Given the description of an element on the screen output the (x, y) to click on. 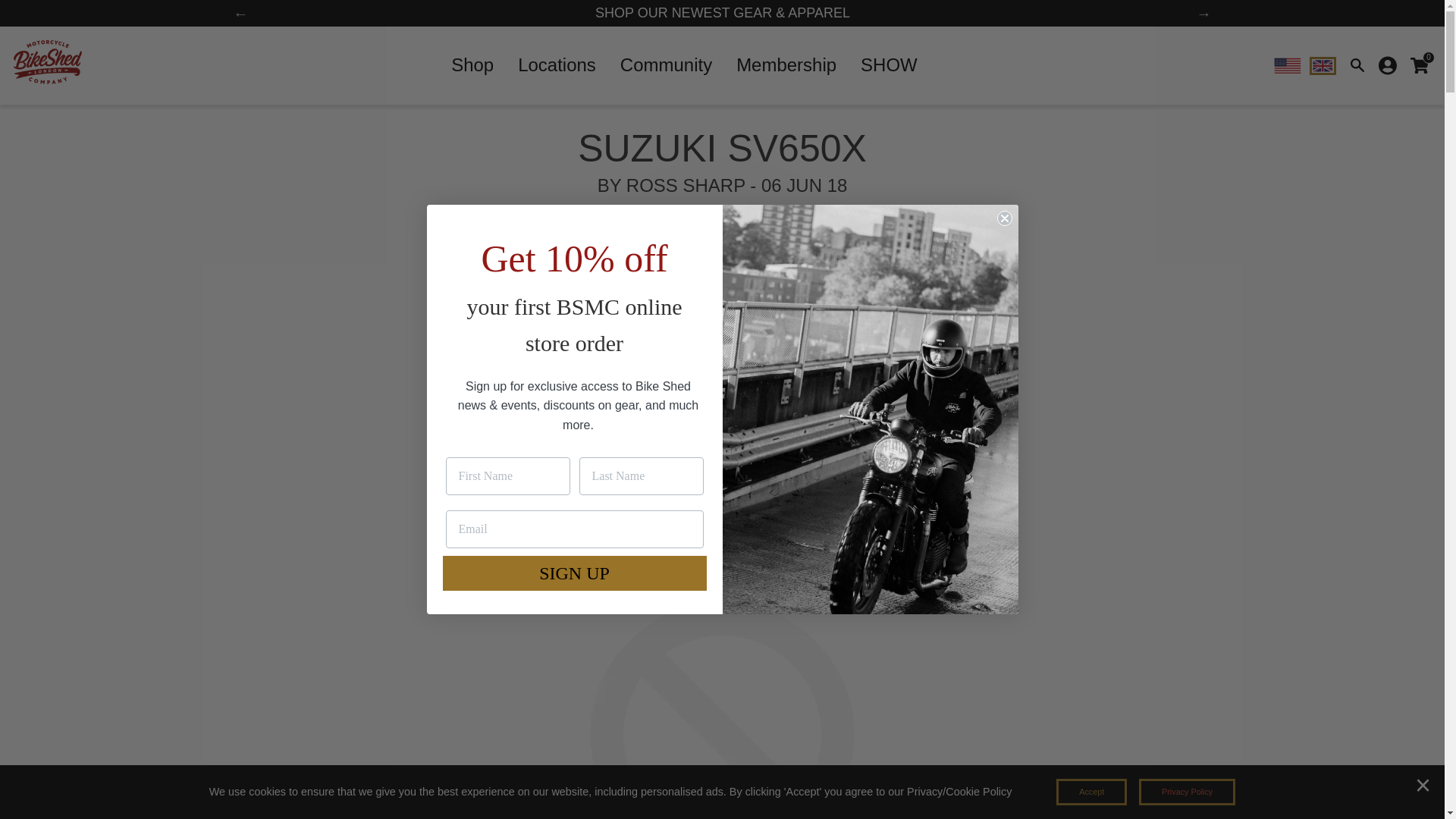
Bike Shed Moto Co (869, 409)
Bike Shed Moto Co. US (1286, 65)
Search Website (1357, 64)
Next (1203, 13)
Access Account (1387, 65)
Previous (239, 13)
Shop (472, 64)
